Given the description of an element on the screen output the (x, y) to click on. 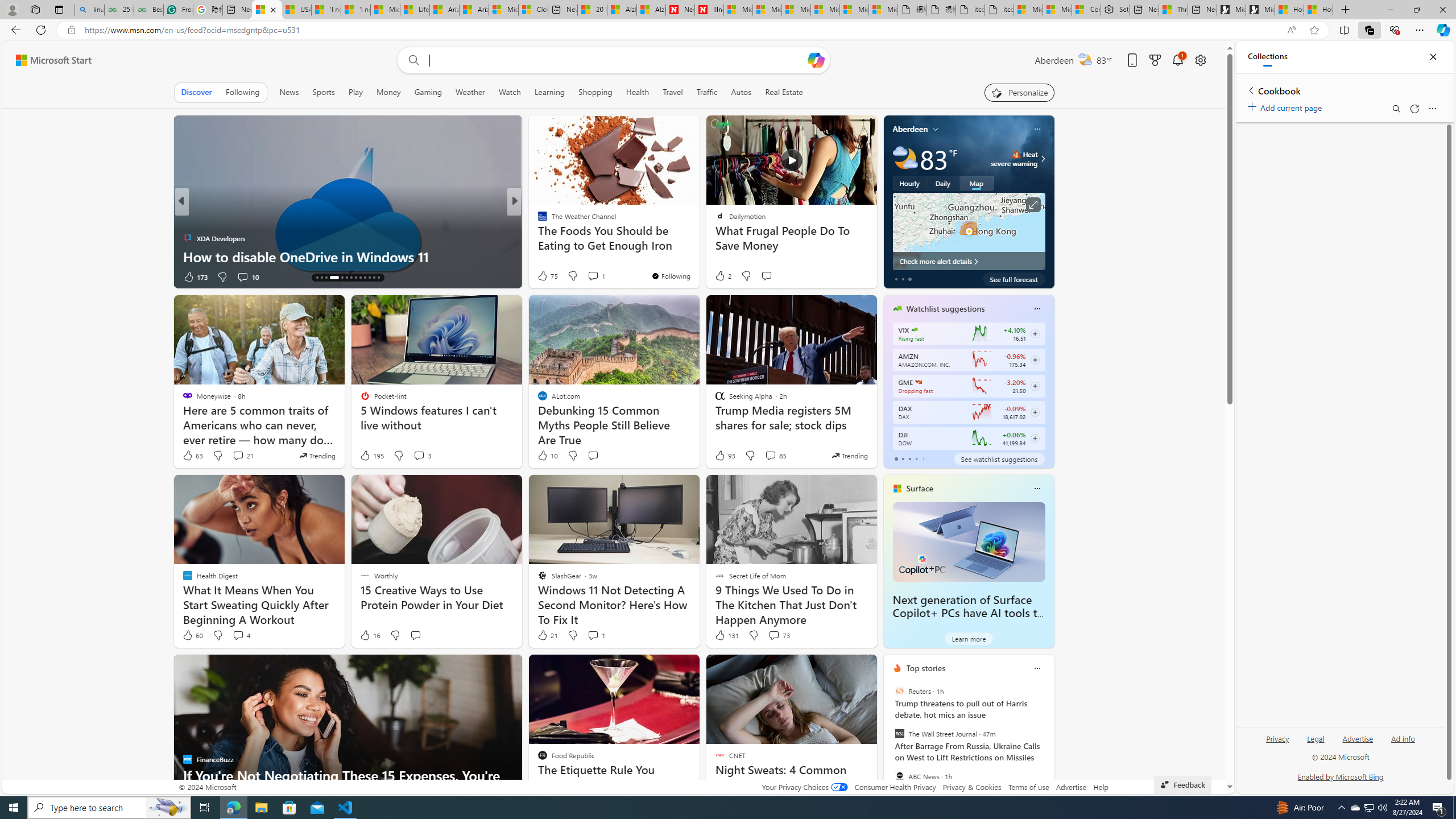
Cloud Computing Services | Microsoft Azure (533, 9)
AutomationID: tab-15 (321, 277)
linux basic - Search (89, 9)
Kobocents (537, 219)
63 Like (192, 455)
Class: follow-button  m (1034, 438)
More options menu (1432, 108)
